Given the description of an element on the screen output the (x, y) to click on. 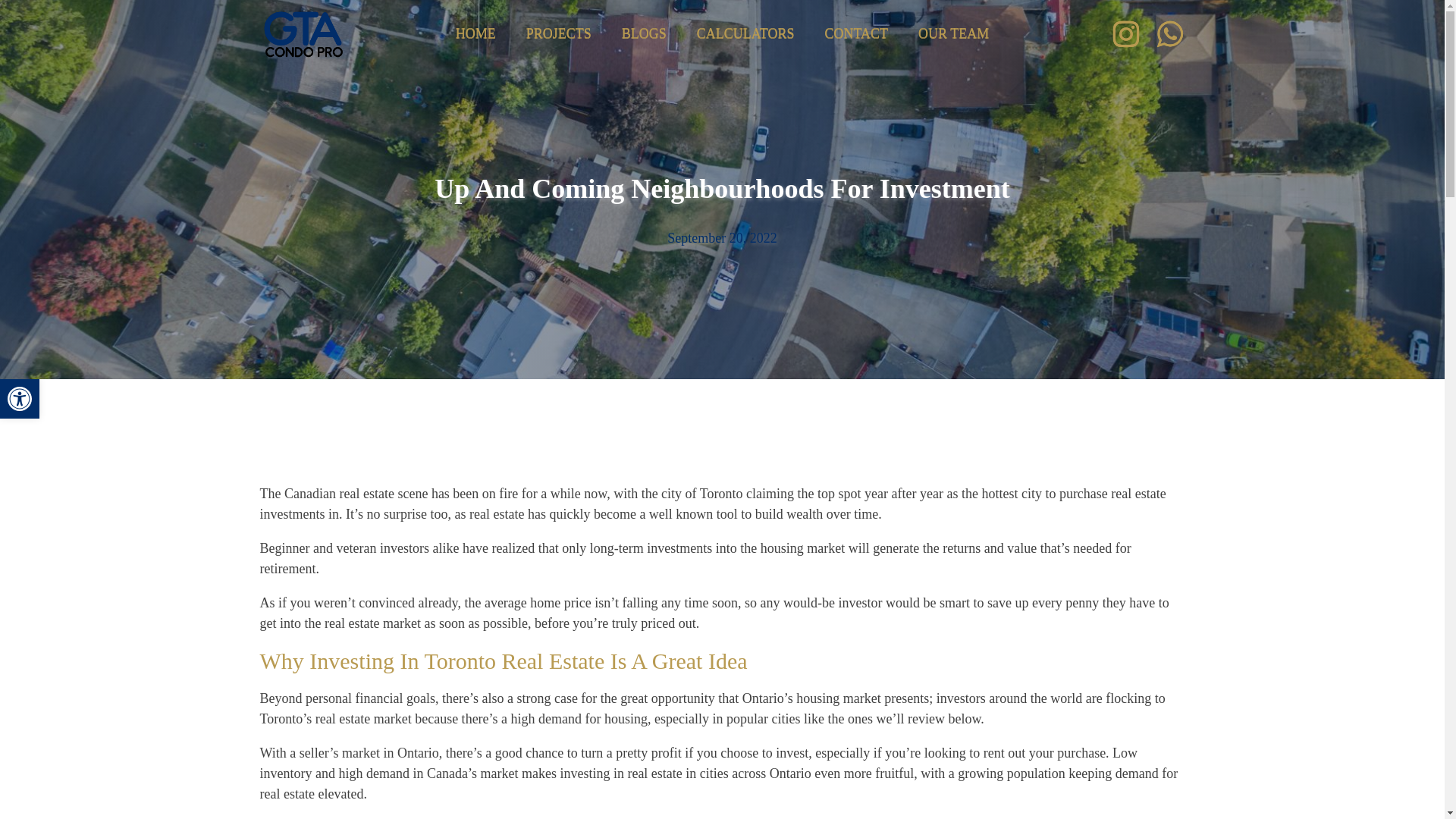
BLOGS (644, 33)
HOME (476, 34)
OUR TEAM (953, 34)
CALCULATORS (745, 34)
BLOGS (644, 34)
OUR TEAM (953, 33)
Accessibility Tools (19, 398)
HOME (476, 33)
Accessibility Tools (19, 398)
CALCULATORS (745, 33)
